Given the description of an element on the screen output the (x, y) to click on. 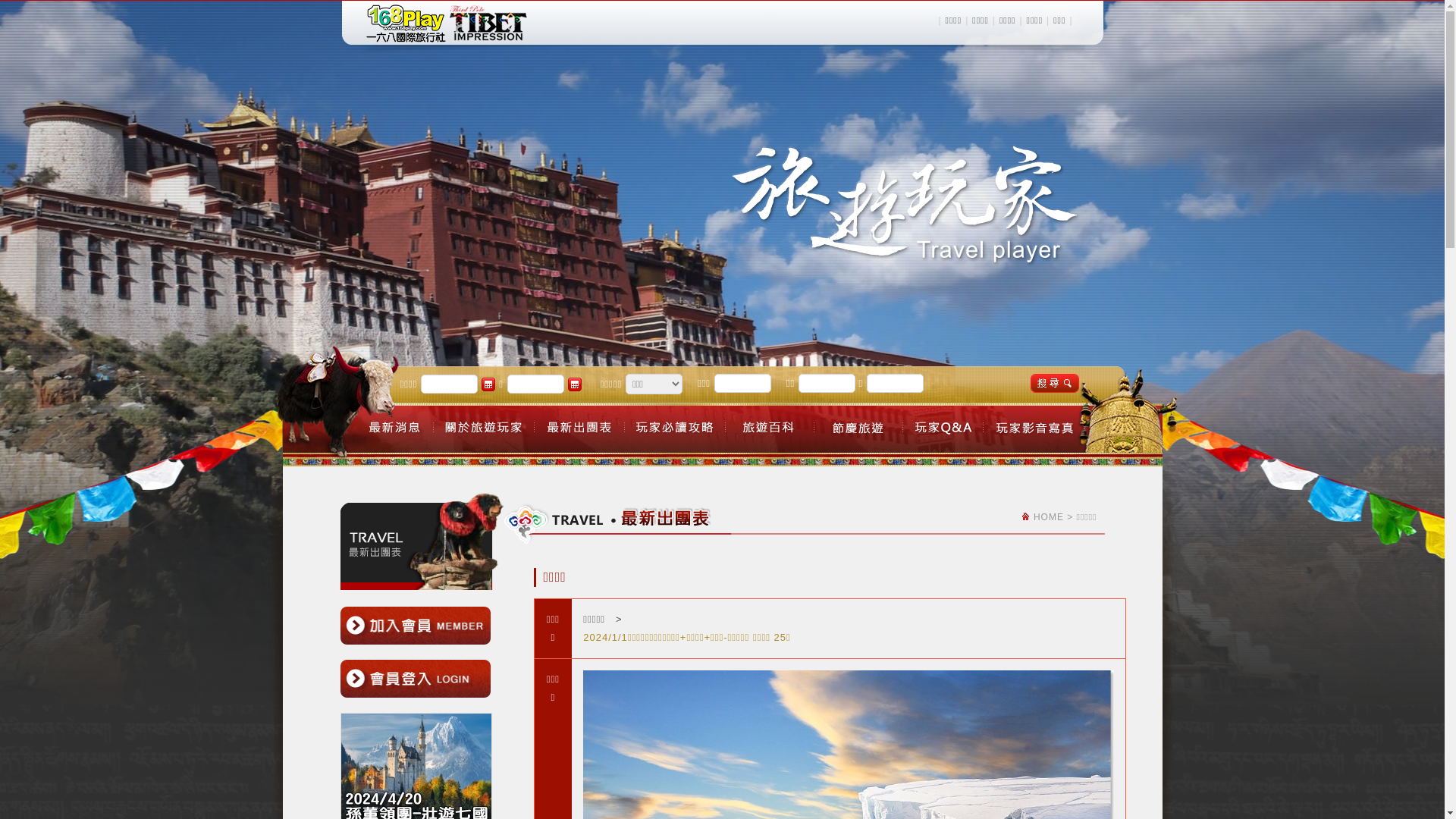
HOME Element type: text (1048, 516)
